Given the description of an element on the screen output the (x, y) to click on. 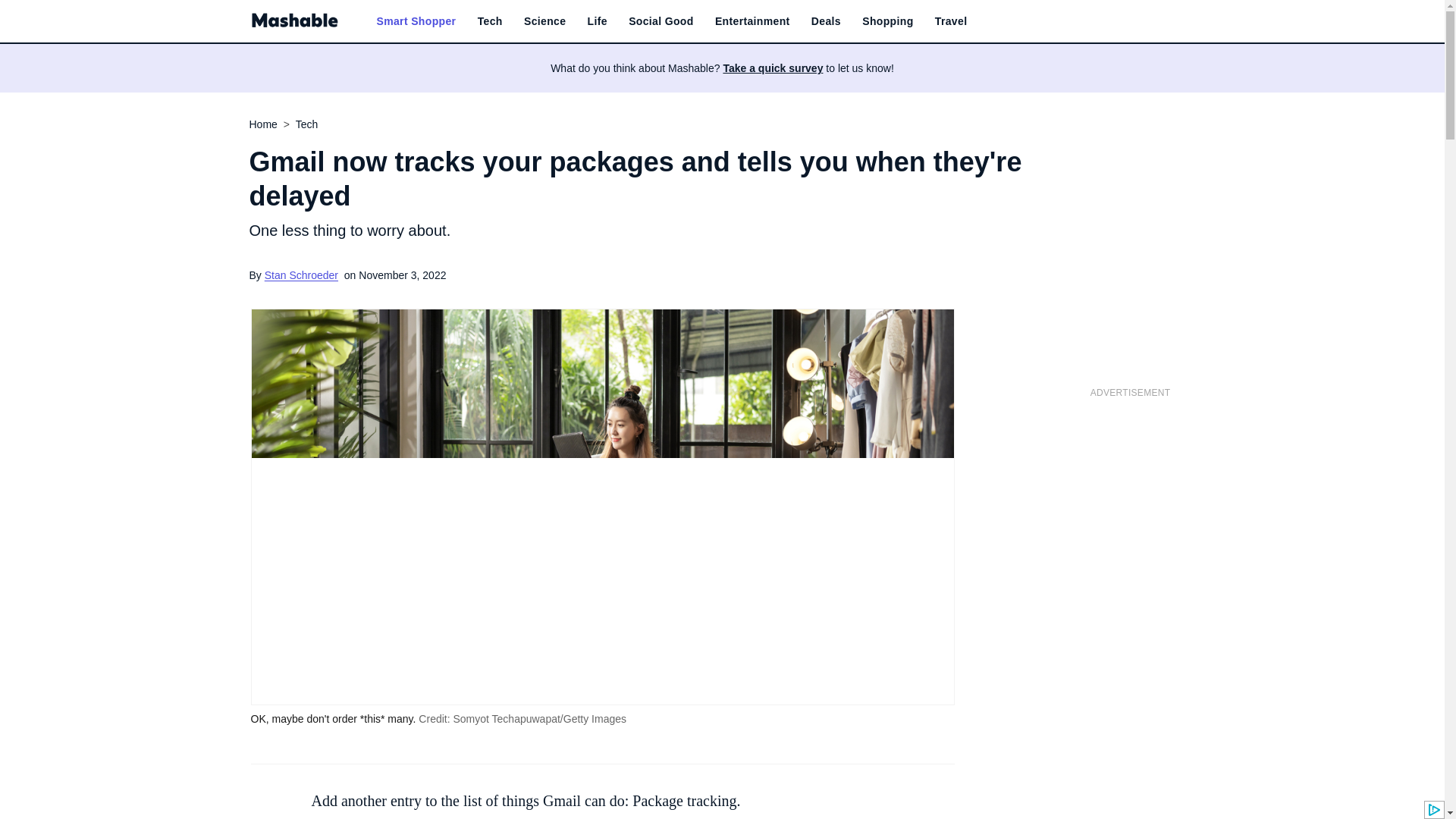
Tech (489, 21)
Shopping (886, 21)
Travel (951, 21)
Smart Shopper (415, 21)
Entertainment (752, 21)
Life (597, 21)
Science (545, 21)
Deals (825, 21)
Social Good (661, 21)
